Given the description of an element on the screen output the (x, y) to click on. 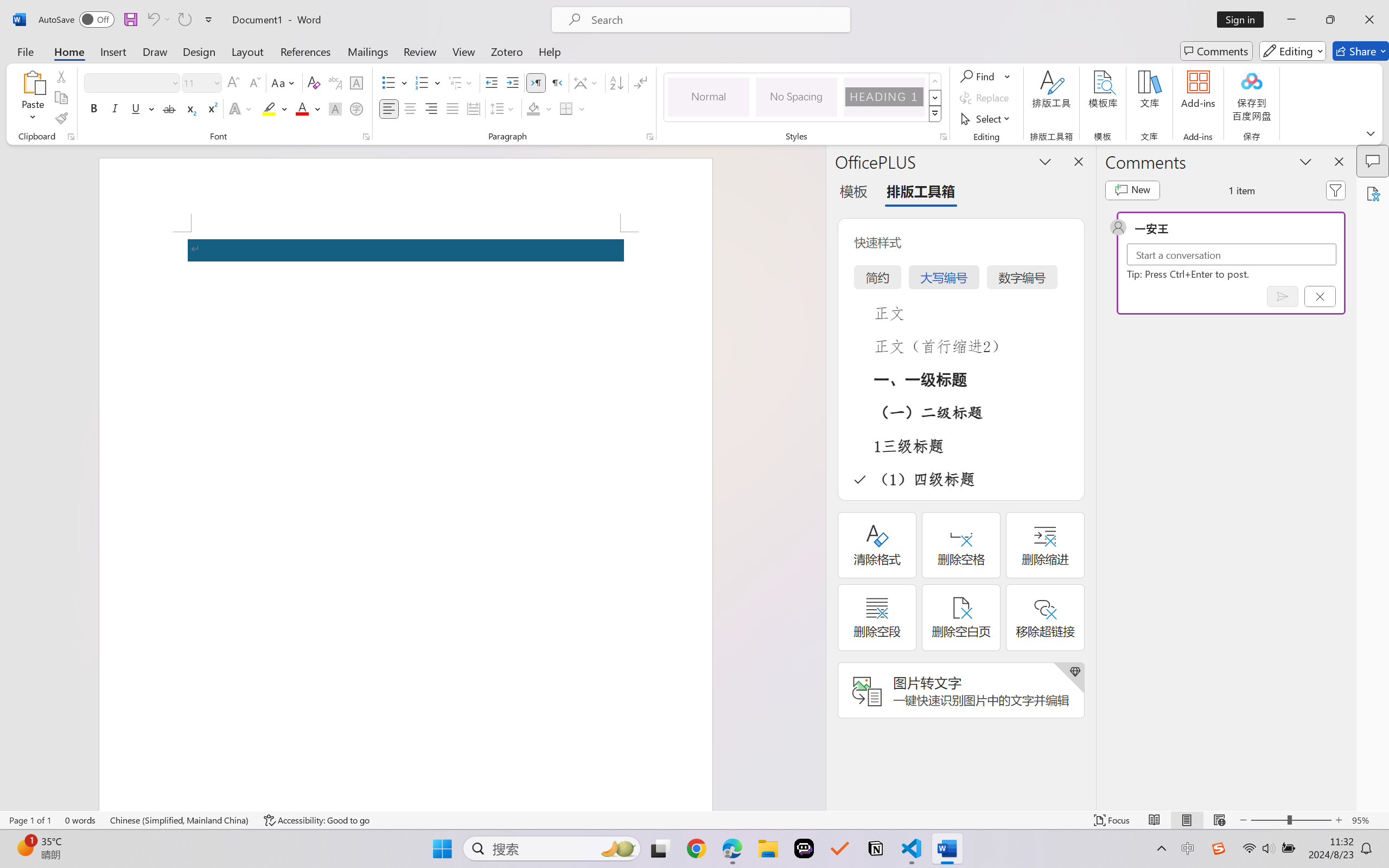
Right-to-Left (556, 82)
